Given the description of an element on the screen output the (x, y) to click on. 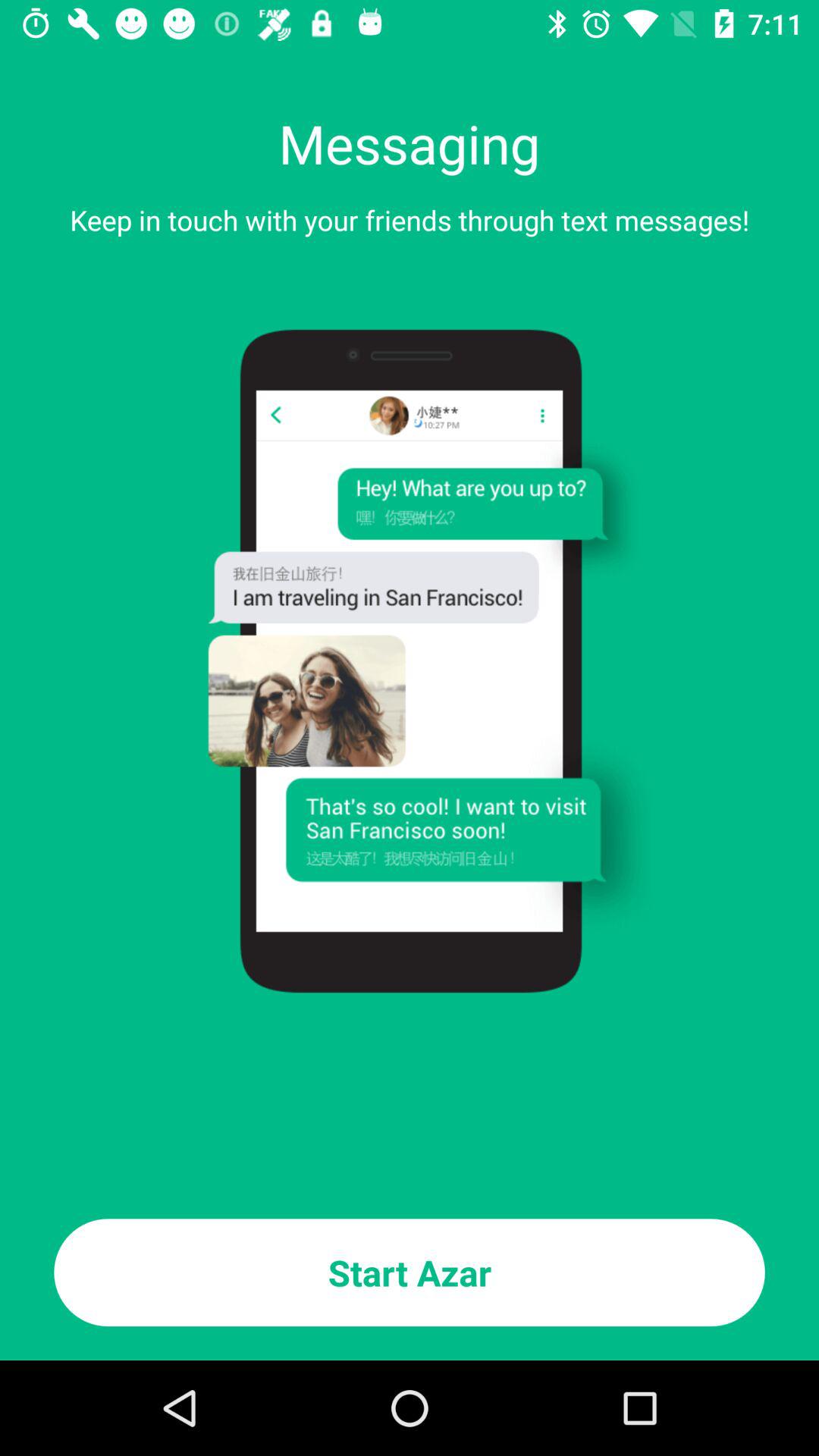
select start azar (409, 1272)
